Given the description of an element on the screen output the (x, y) to click on. 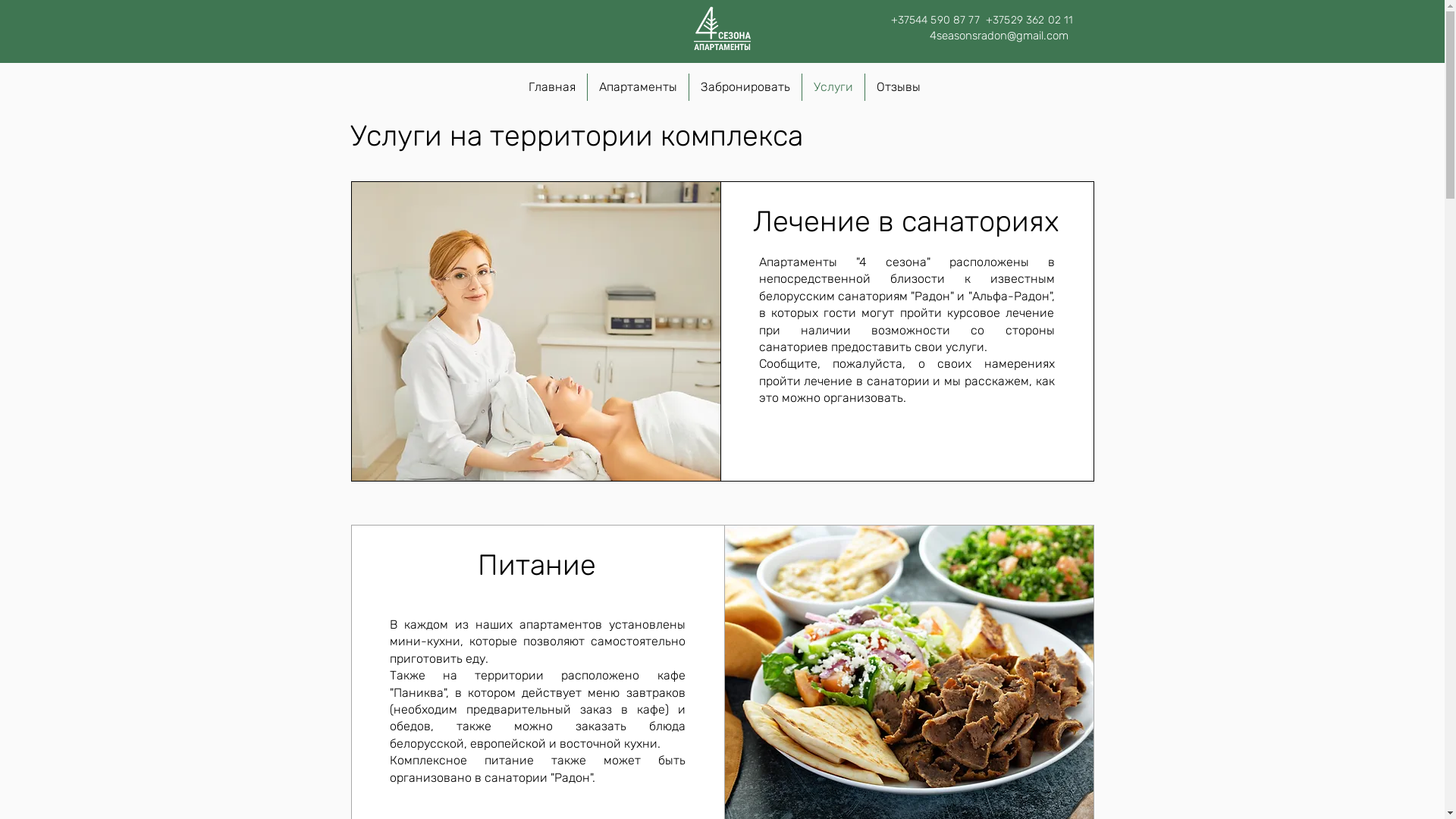
TWIPLA (Visitor Analytics) Element type: hover (1442, 4)
+37544 590 87 77 Element type: text (934, 19)
+37529 362 02 11  Element type: text (1030, 19)
4seasonsradon@gmail.com Element type: text (998, 35)
